Given the description of an element on the screen output the (x, y) to click on. 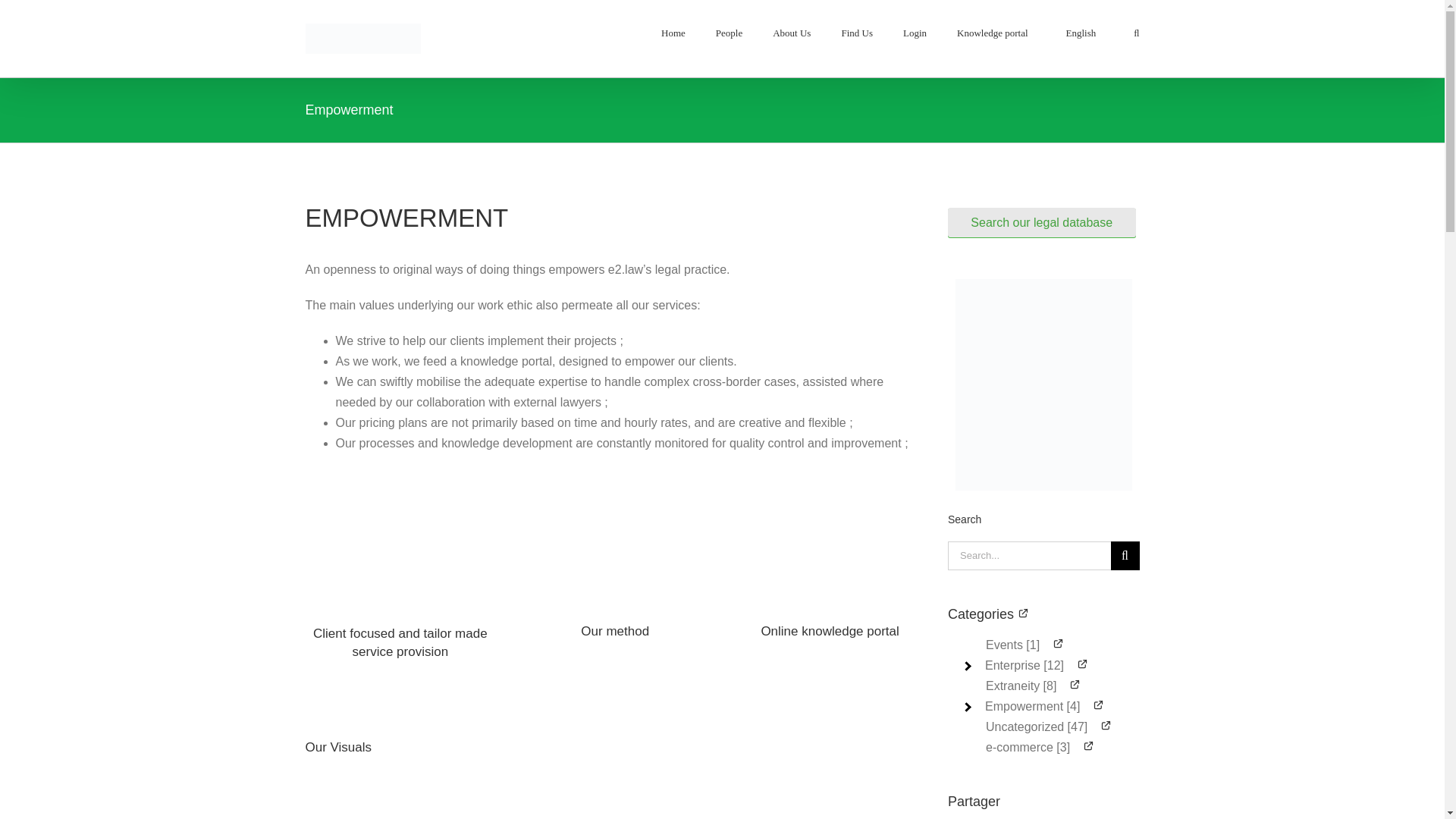
Online knowledge portal (829, 631)
Our method (614, 631)
EMPOWERMENT (614, 229)
Client focused and tailor made service provision (400, 642)
Knowledge portal (991, 31)
